Given the description of an element on the screen output the (x, y) to click on. 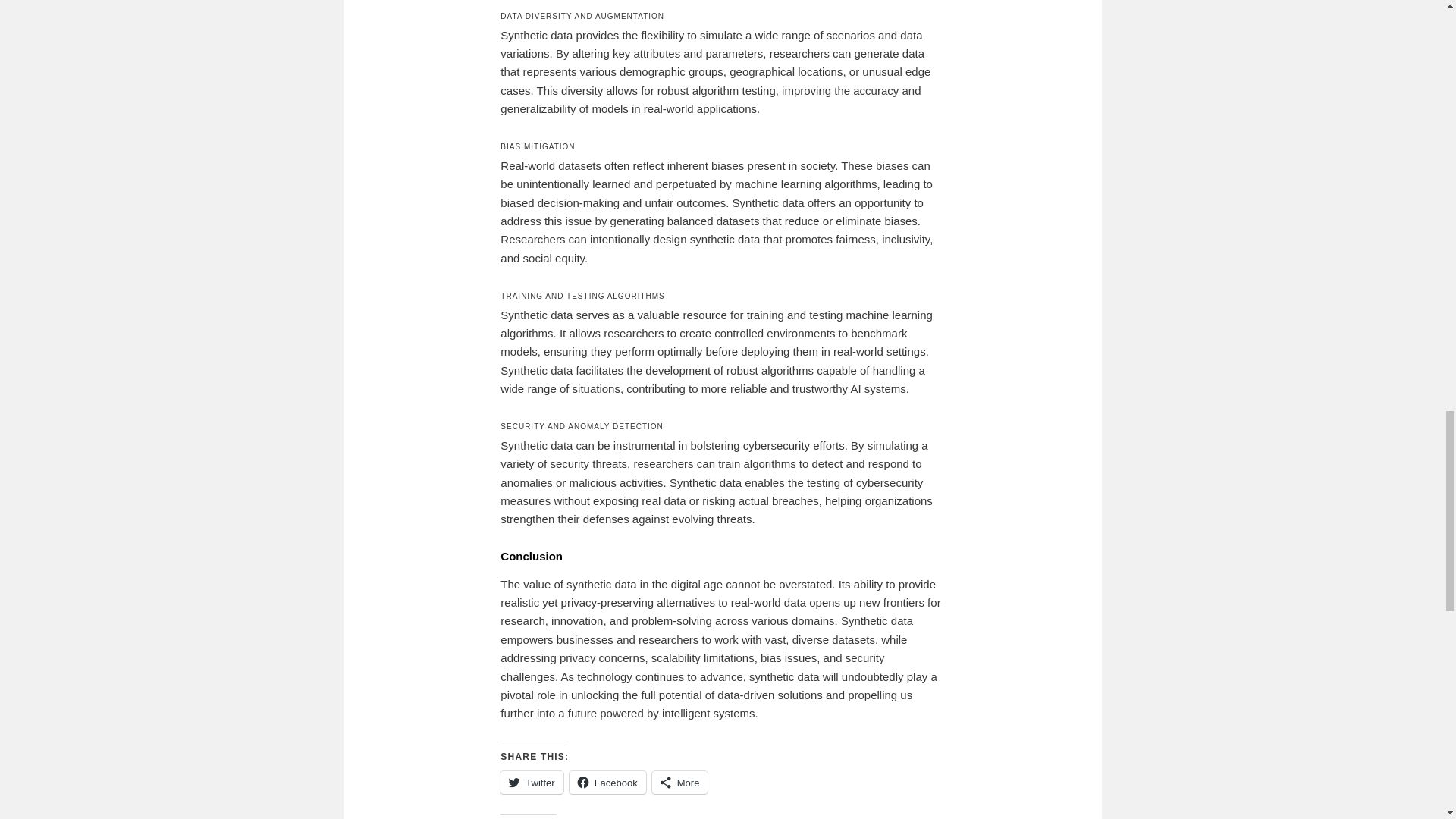
More (679, 782)
Click to share on Facebook (607, 782)
Facebook (607, 782)
Click to share on Twitter (531, 782)
Twitter (531, 782)
